Given the description of an element on the screen output the (x, y) to click on. 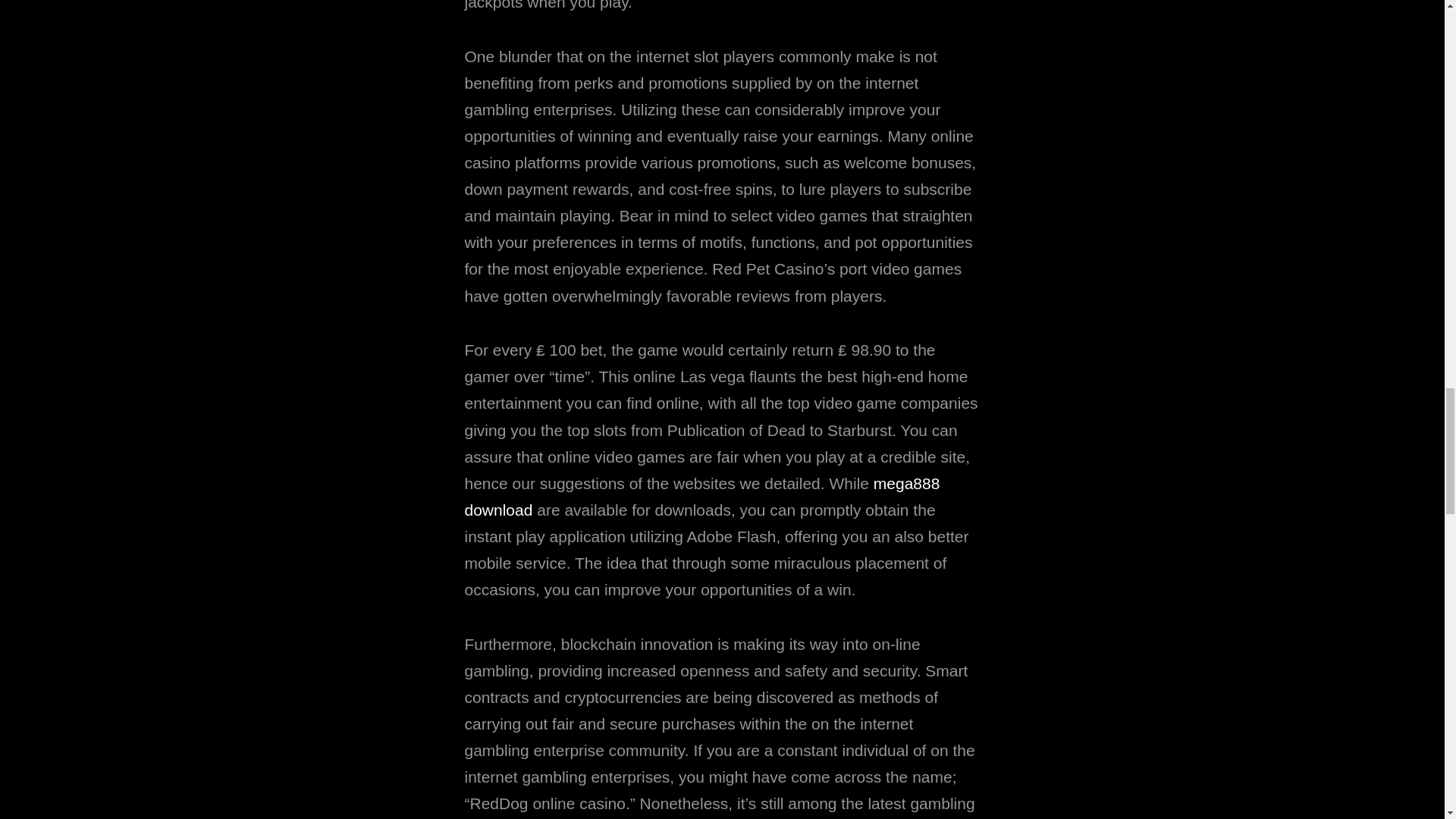
mega888 download (701, 496)
